Given the description of an element on the screen output the (x, y) to click on. 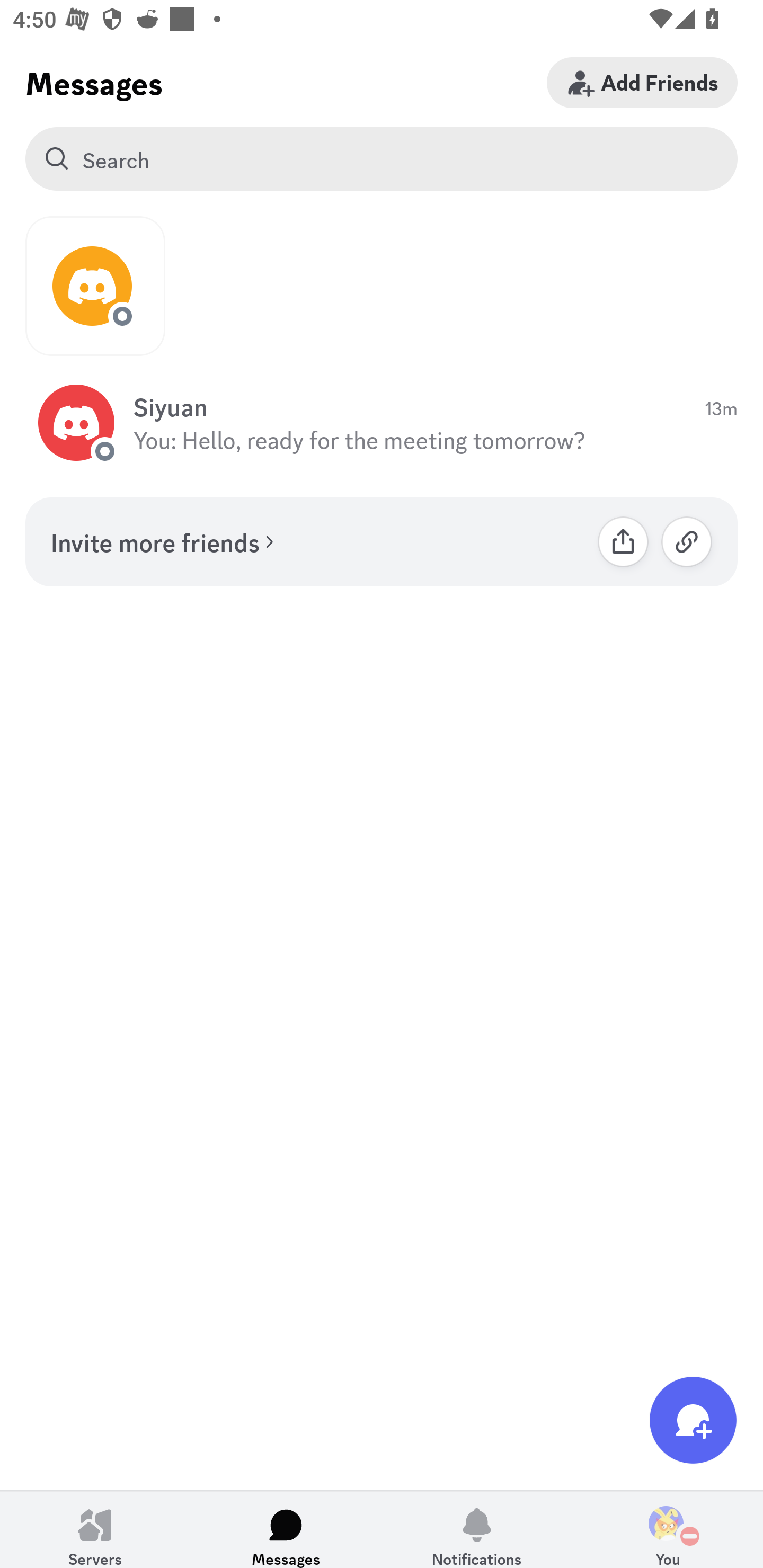
Add Friends (642, 82)
Search (381, 159)
Sean,  (95, 285)
Share Link (622, 541)
Copy Link (686, 541)
New Message (692, 1419)
Servers (95, 1529)
Messages (285, 1529)
Notifications (476, 1529)
You (667, 1529)
